Given the description of an element on the screen output the (x, y) to click on. 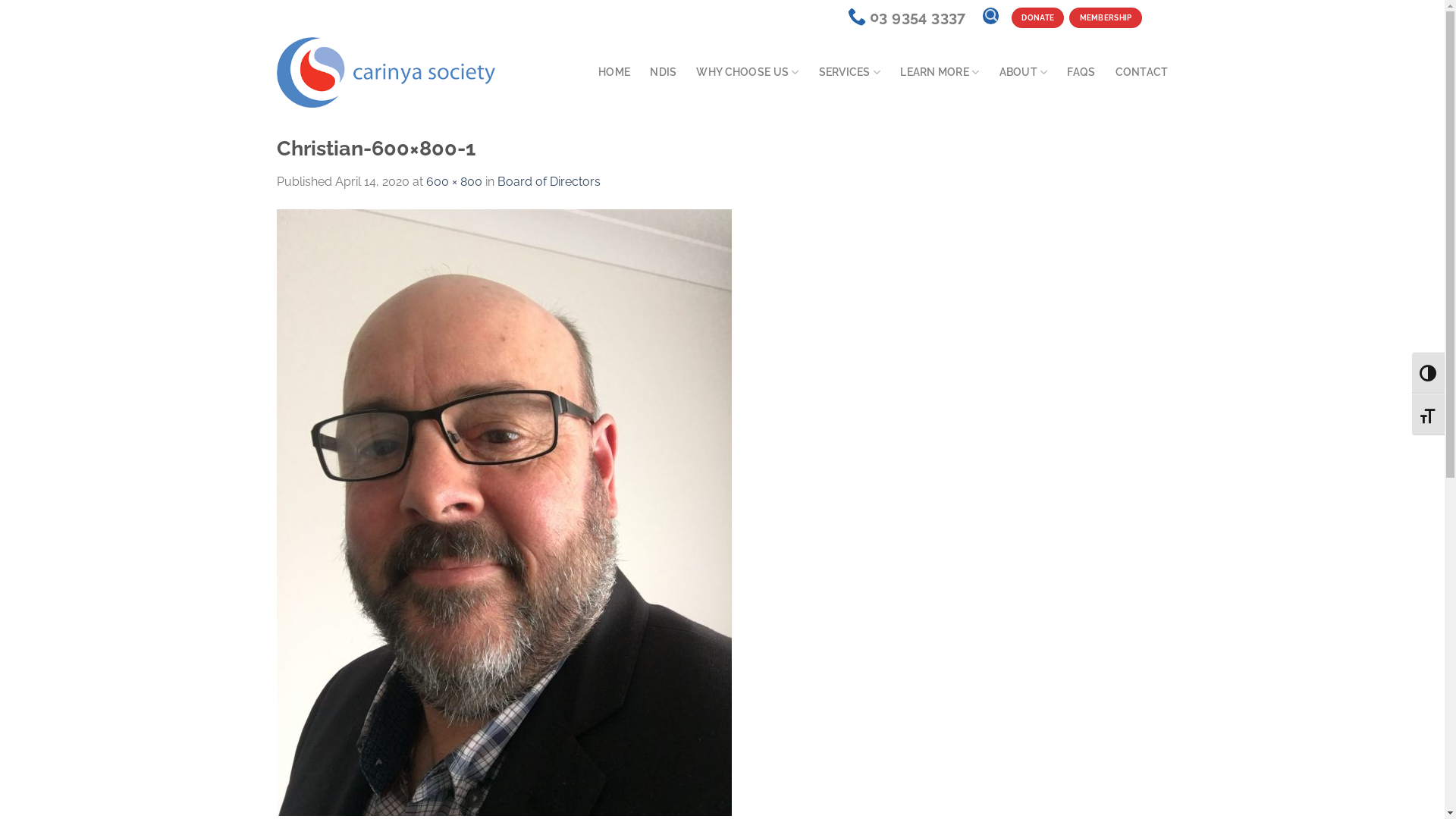
FAQS Element type: text (1080, 71)
LEARN MORE Element type: text (939, 71)
Board of Directors Element type: text (548, 181)
HOME Element type: text (614, 71)
NDIS Element type: text (662, 71)
MEMBERSHIP Element type: text (1105, 17)
Carinya Society Element type: hover (385, 72)
TOGGLE FONT SIZE Element type: text (1428, 414)
WHY CHOOSE US Element type: text (747, 71)
ABOUT Element type: text (1023, 71)
TOGGLE HIGH CONTRAST Element type: text (1428, 372)
03 9354 3337 Element type: text (906, 16)
CONTACT Element type: text (1141, 71)
DONATE Element type: text (1037, 17)
SERVICES Element type: text (850, 71)
